Given the description of an element on the screen output the (x, y) to click on. 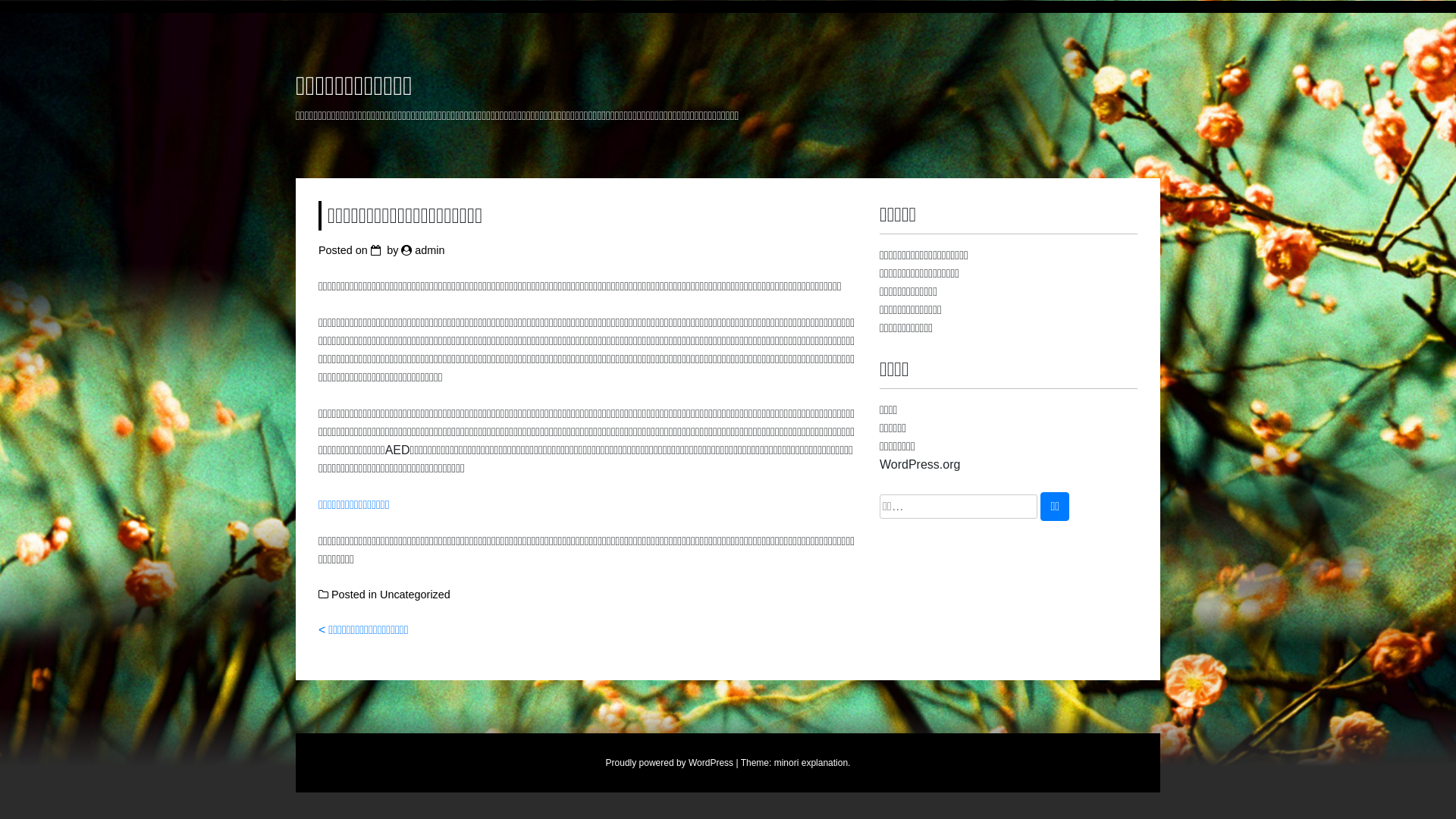
Proudly powered by WordPress Element type: text (669, 762)
WordPress.org Element type: text (919, 464)
explanation Element type: text (824, 762)
admin Element type: text (429, 250)
Uncategorized Element type: text (414, 594)
